Given the description of an element on the screen output the (x, y) to click on. 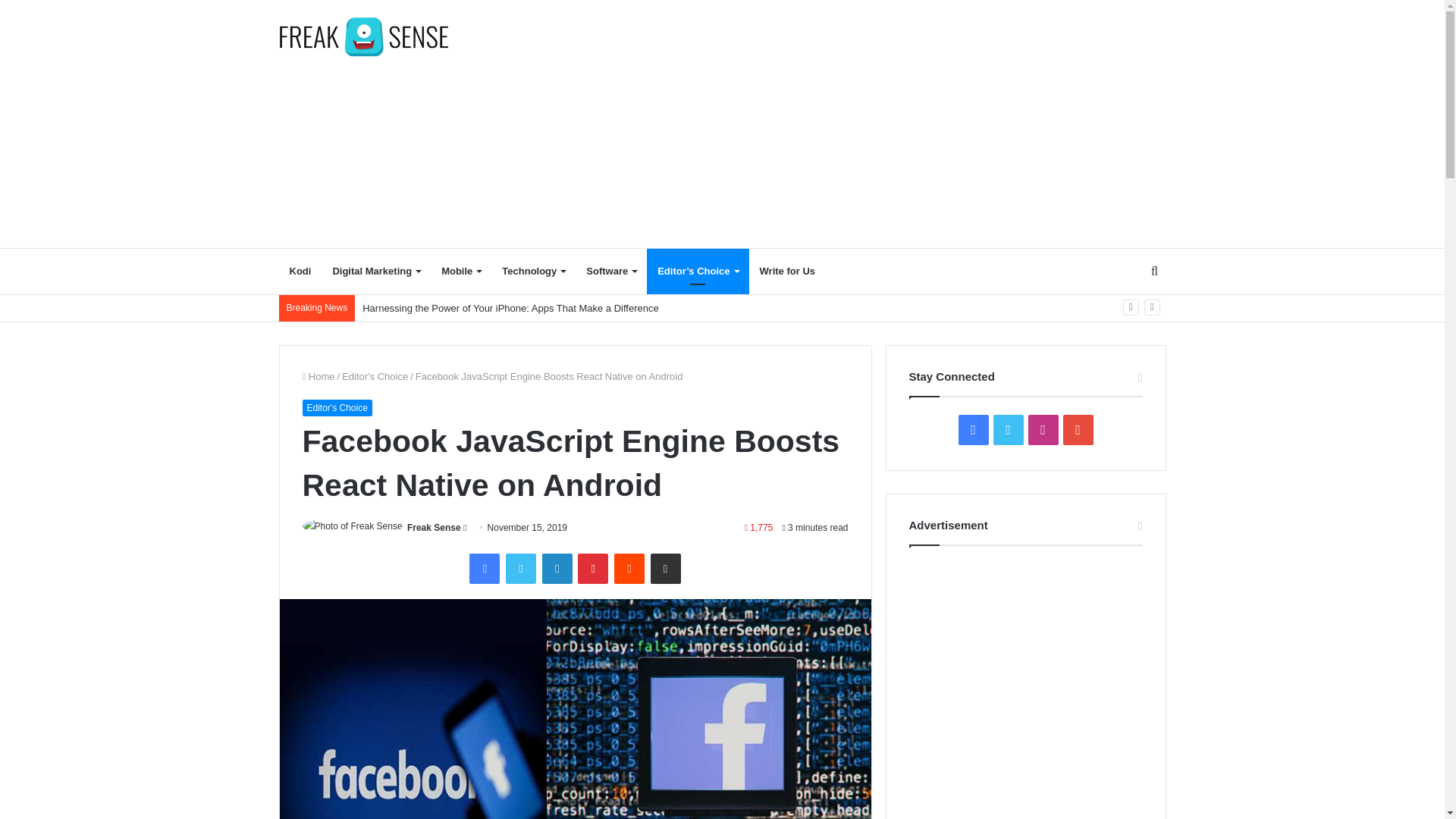
Share via Email (665, 568)
Reddit (629, 568)
Kodi (300, 271)
Freak Sense (434, 527)
LinkedIn (556, 568)
Write for Us (787, 271)
Facebook (483, 568)
Editor's Choice (336, 407)
Pinterest (593, 568)
Editor's Choice (374, 376)
